Given the description of an element on the screen output the (x, y) to click on. 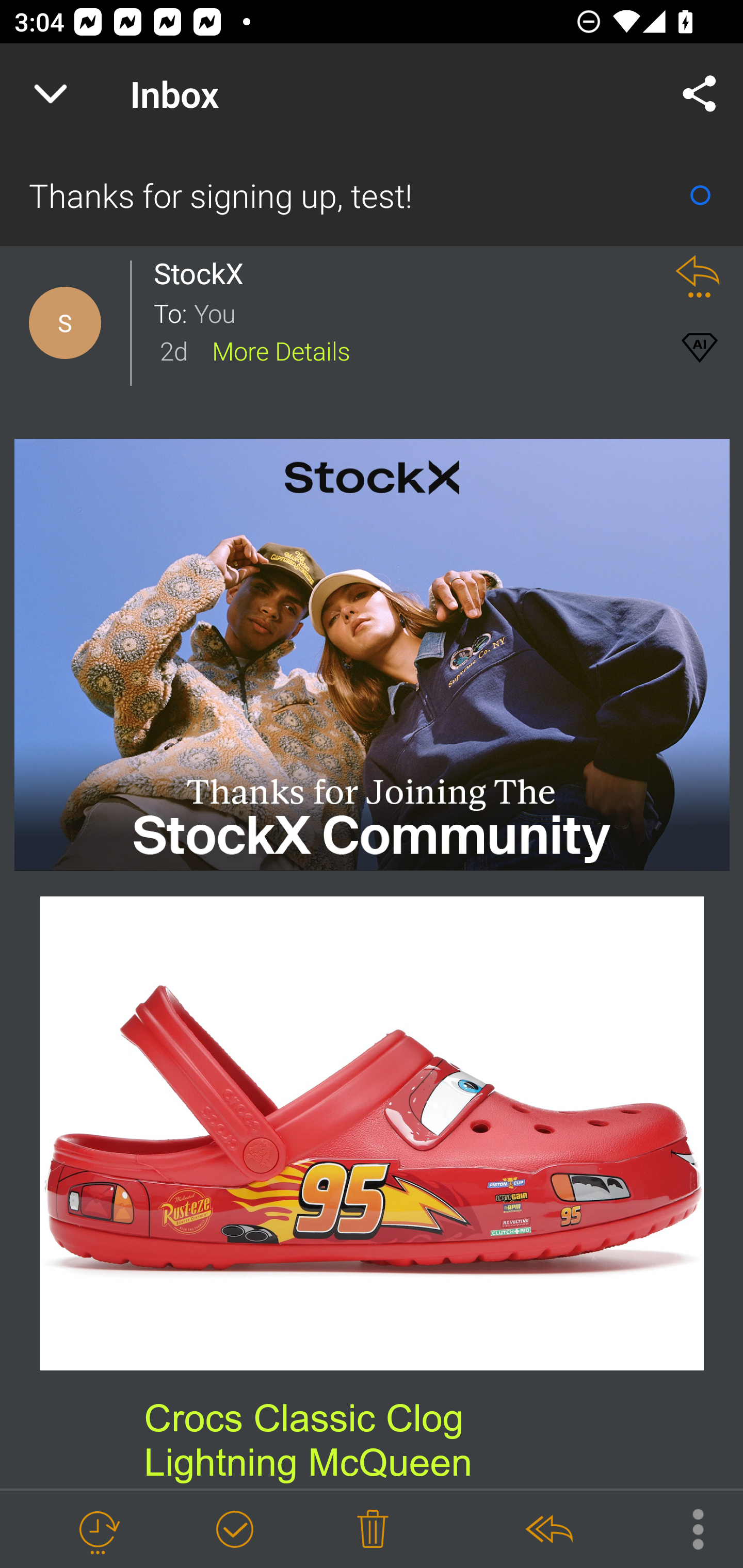
Navigate up (50, 93)
Share (699, 93)
Mark as Read (699, 194)
StockX (203, 273)
Contact Details (64, 322)
More Details (280, 349)
click?upn=u001 (372, 654)
Crocs Classic Clog Lightning McQueen (372, 1133)
Crocs Classic Clog Lightning McQueen (307, 1439)
More Options (687, 1528)
Snooze (97, 1529)
Mark as Done (234, 1529)
Delete (372, 1529)
Reply All (548, 1529)
